Given the description of an element on the screen output the (x, y) to click on. 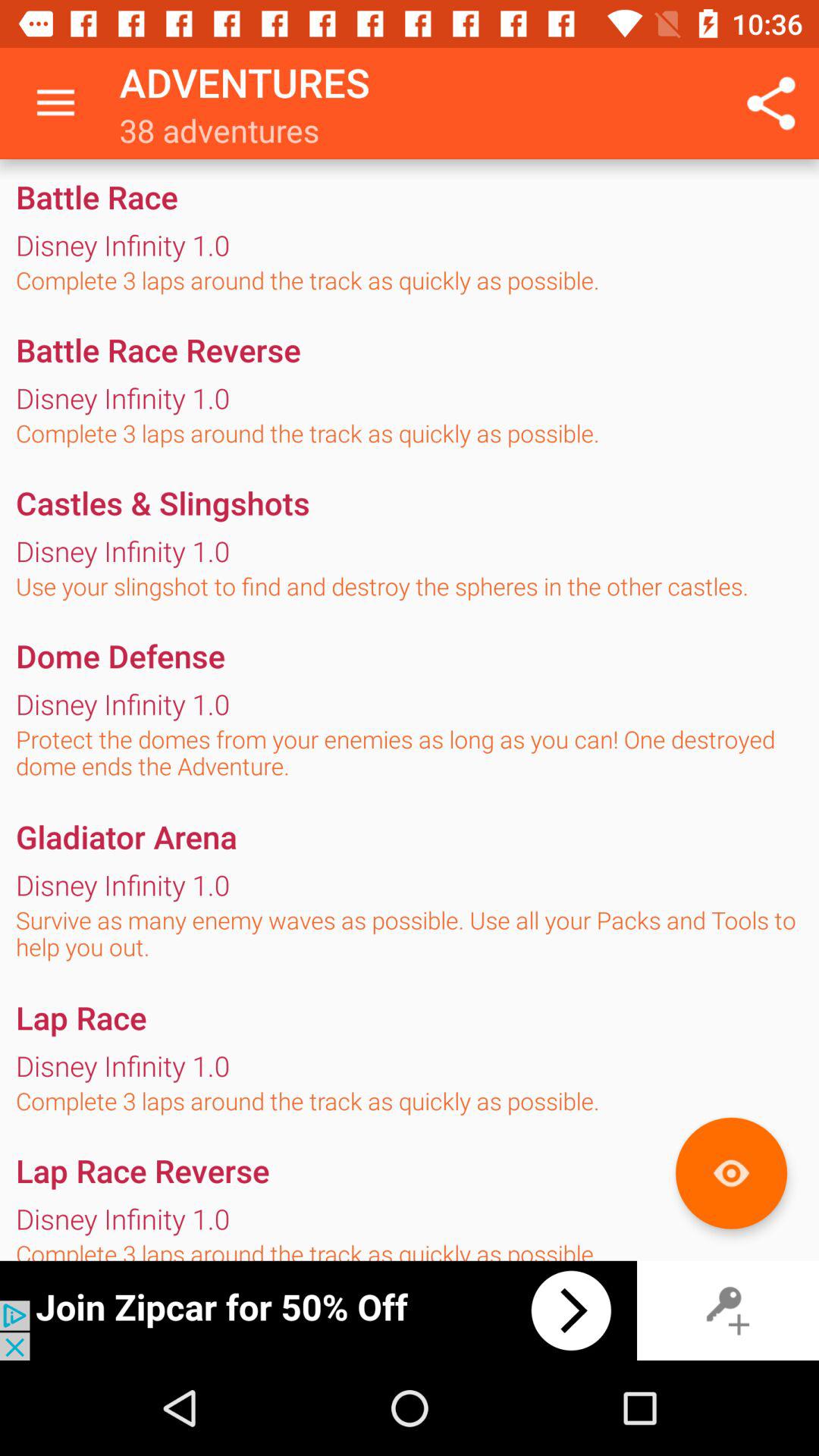
search for characters (731, 1173)
